Given the description of an element on the screen output the (x, y) to click on. 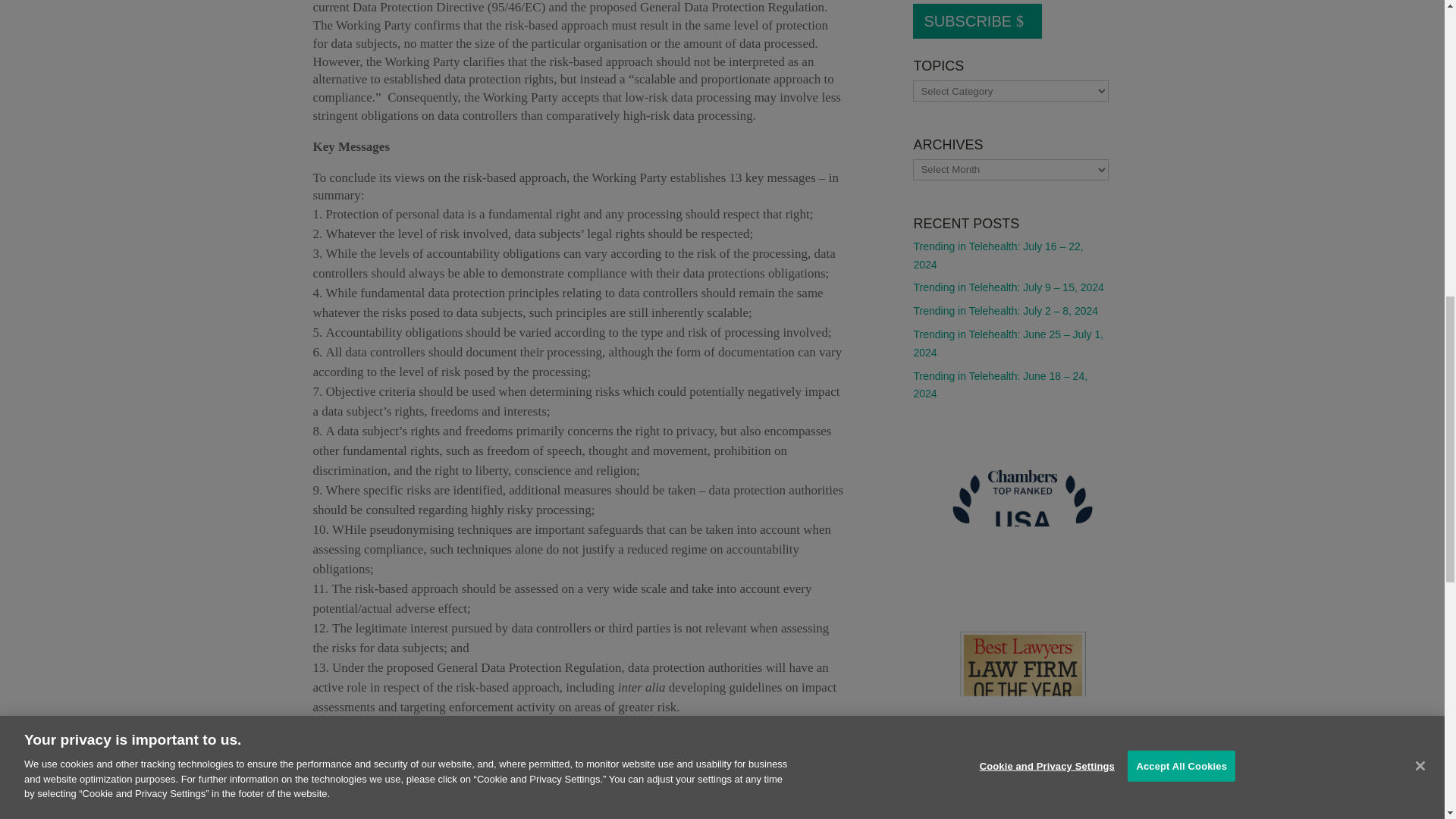
Article 29 Data Protection Working Party (451, 766)
data protection (607, 766)
General Data Protection Regulation (575, 775)
Data Protection Directive (721, 766)
